Given the description of an element on the screen output the (x, y) to click on. 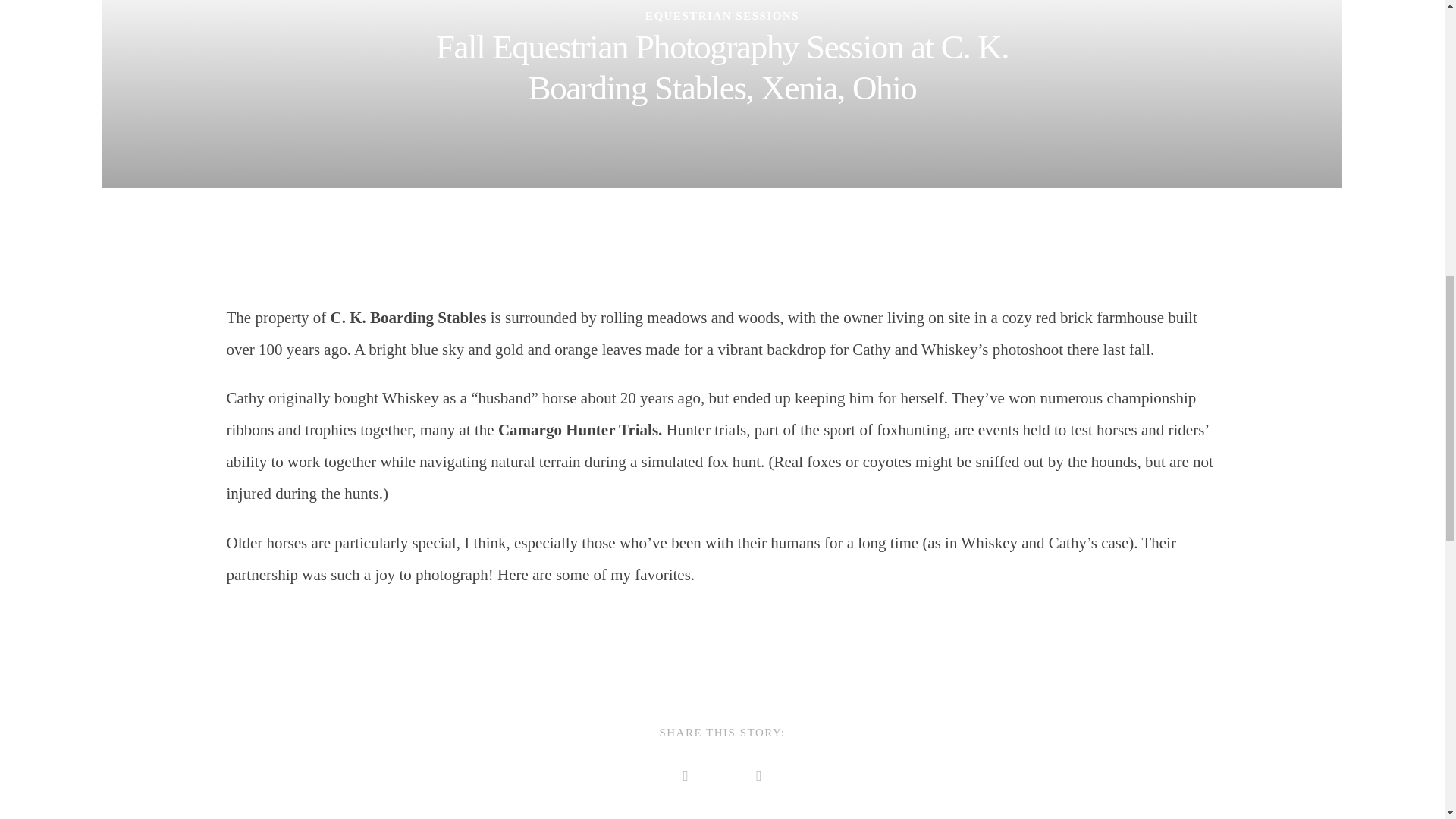
C. K. Boarding Stables (408, 316)
Camargo Hunter Trials (577, 429)
EQUESTRIAN SESSIONS (722, 15)
